Given the description of an element on the screen output the (x, y) to click on. 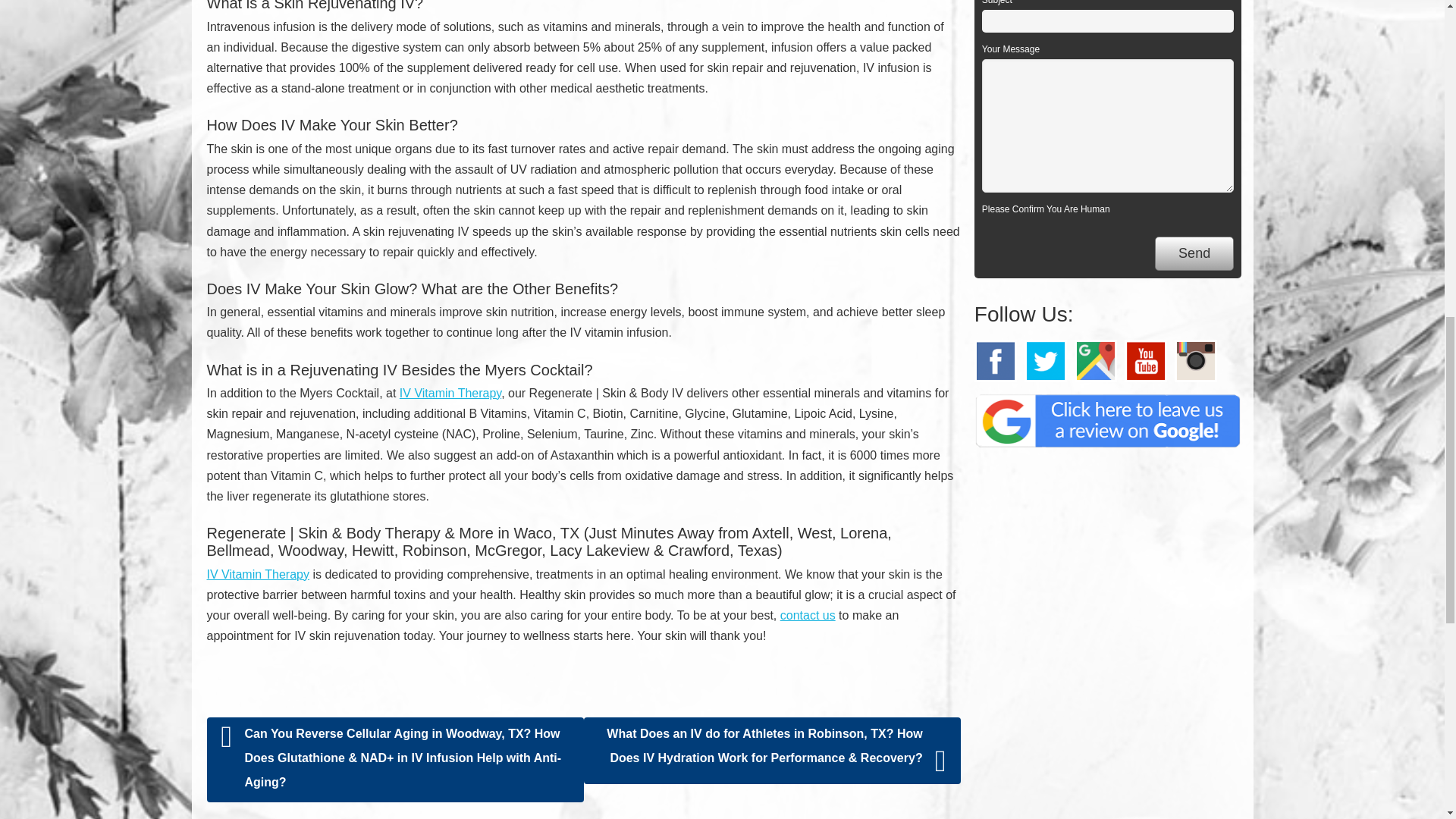
IV Vitamin Therapy (257, 574)
IV Vitamin Therapy (449, 392)
contact us (807, 615)
Send (1193, 253)
Send (1193, 253)
